Given the description of an element on the screen output the (x, y) to click on. 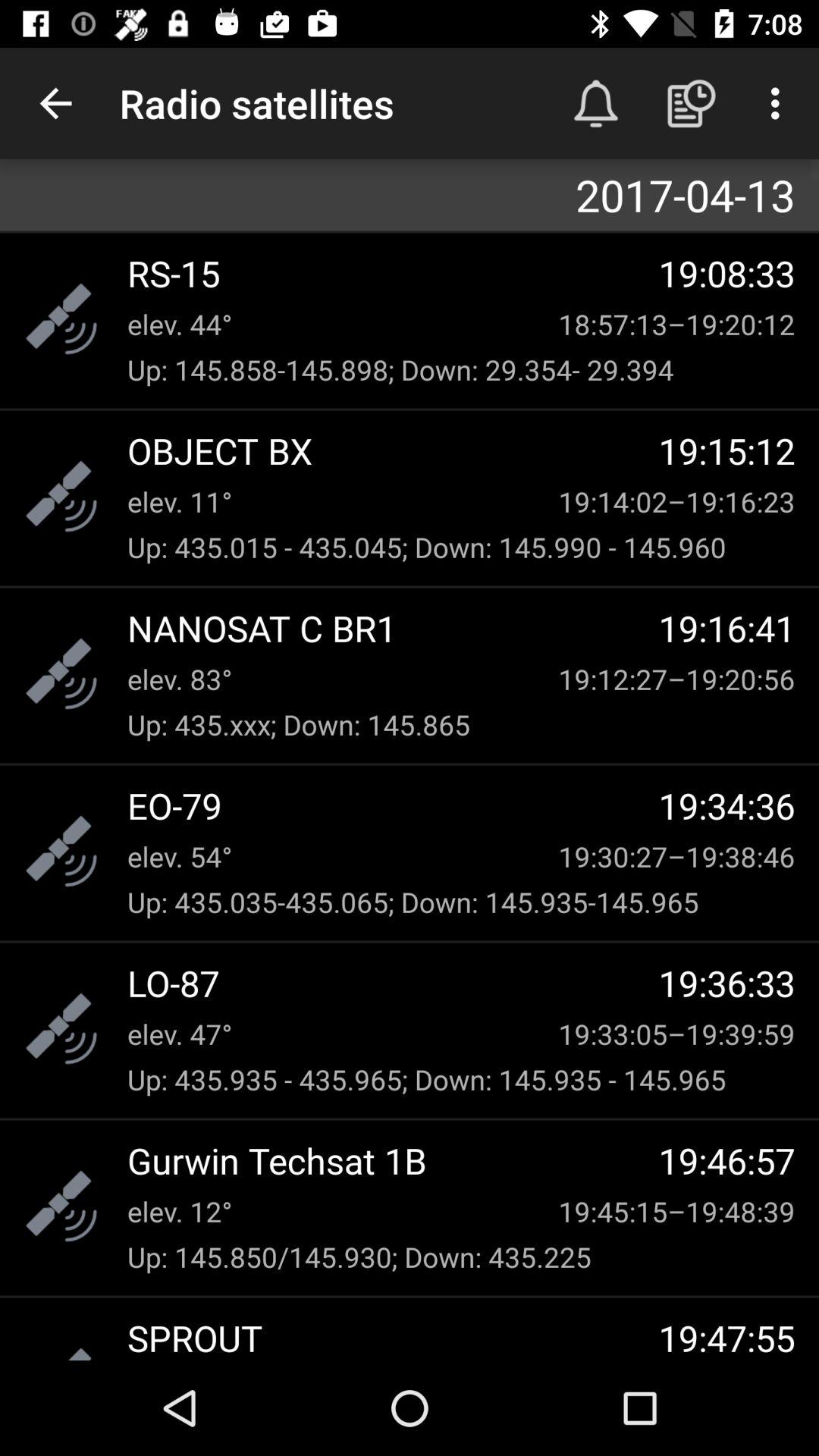
select icon next to 19:47:55 icon (392, 1336)
